Given the description of an element on the screen output the (x, y) to click on. 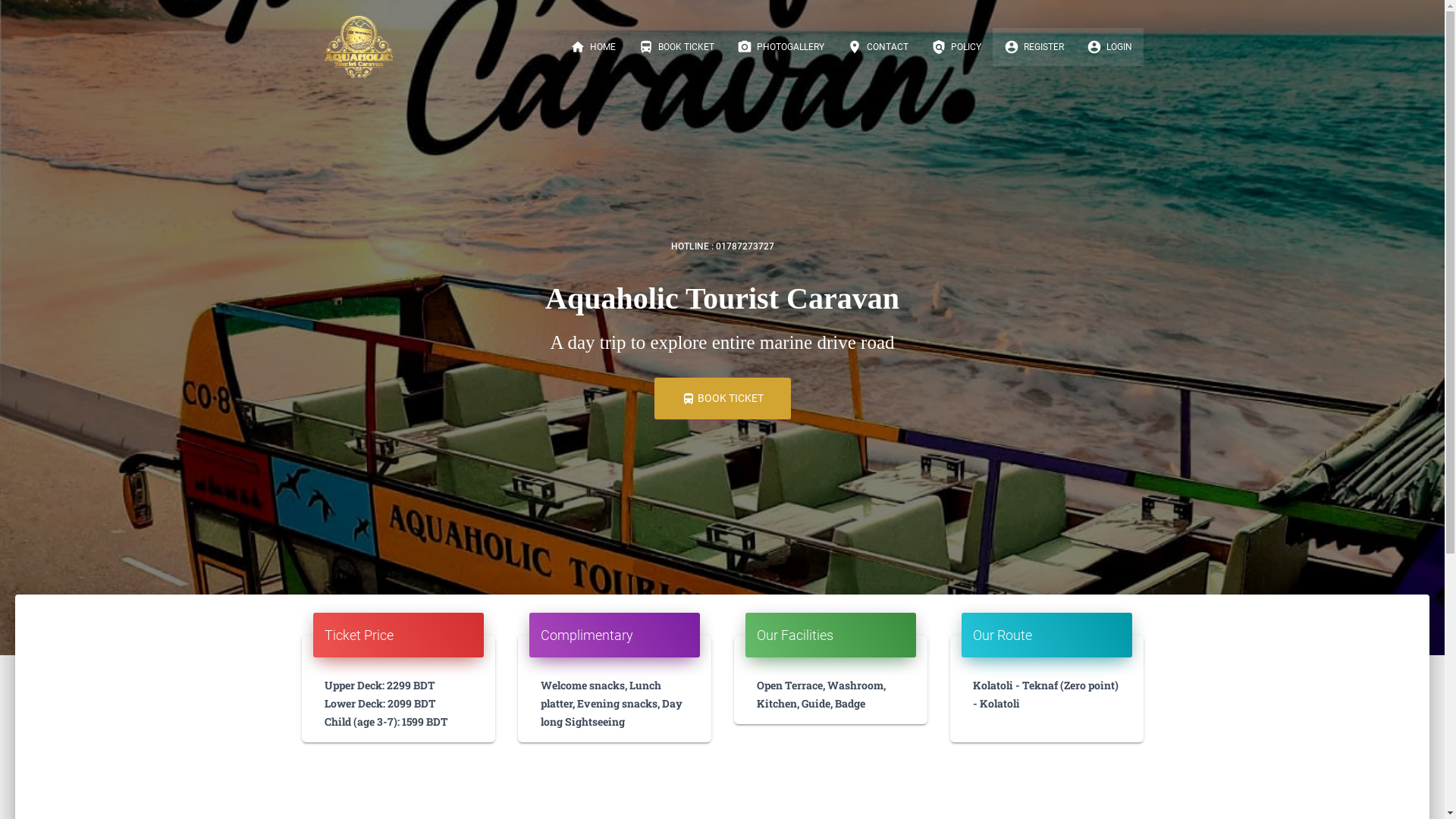
policy POLICY Element type: text (955, 46)
home HOME Element type: text (592, 46)
location_on CONTACT Element type: text (877, 46)
directions_bus BOOK TICKET Element type: text (675, 46)
account_circle LOGIN Element type: text (1109, 46)
photo_camera PHOTOGALLERY Element type: text (779, 46)
account_circle REGISTER Element type: text (1032, 46)
directions_bus BOOK TICKET Element type: text (721, 398)
